Given the description of an element on the screen output the (x, y) to click on. 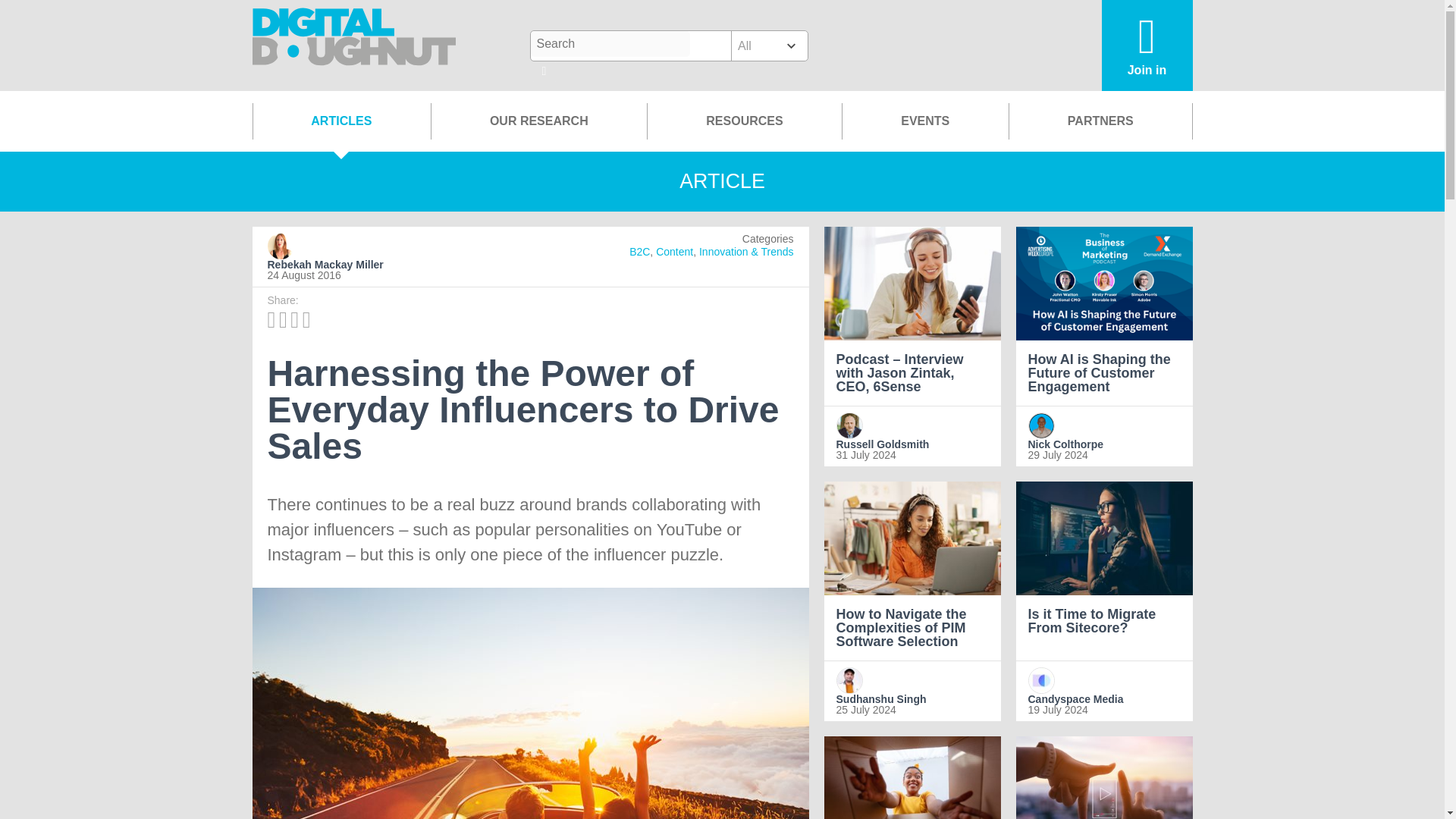
Read more (1104, 777)
EVENTS (925, 120)
Click to view related articles (745, 251)
B2C (638, 251)
OUR RESEARCH (538, 120)
Go (544, 71)
Read more (912, 777)
Search (610, 43)
Click to view related articles (674, 251)
Go (544, 71)
Content (674, 251)
Rebekah Mackay Miller (352, 264)
ARTICLES (340, 120)
Click to view related articles (638, 251)
RESOURCES (743, 120)
